Given the description of an element on the screen output the (x, y) to click on. 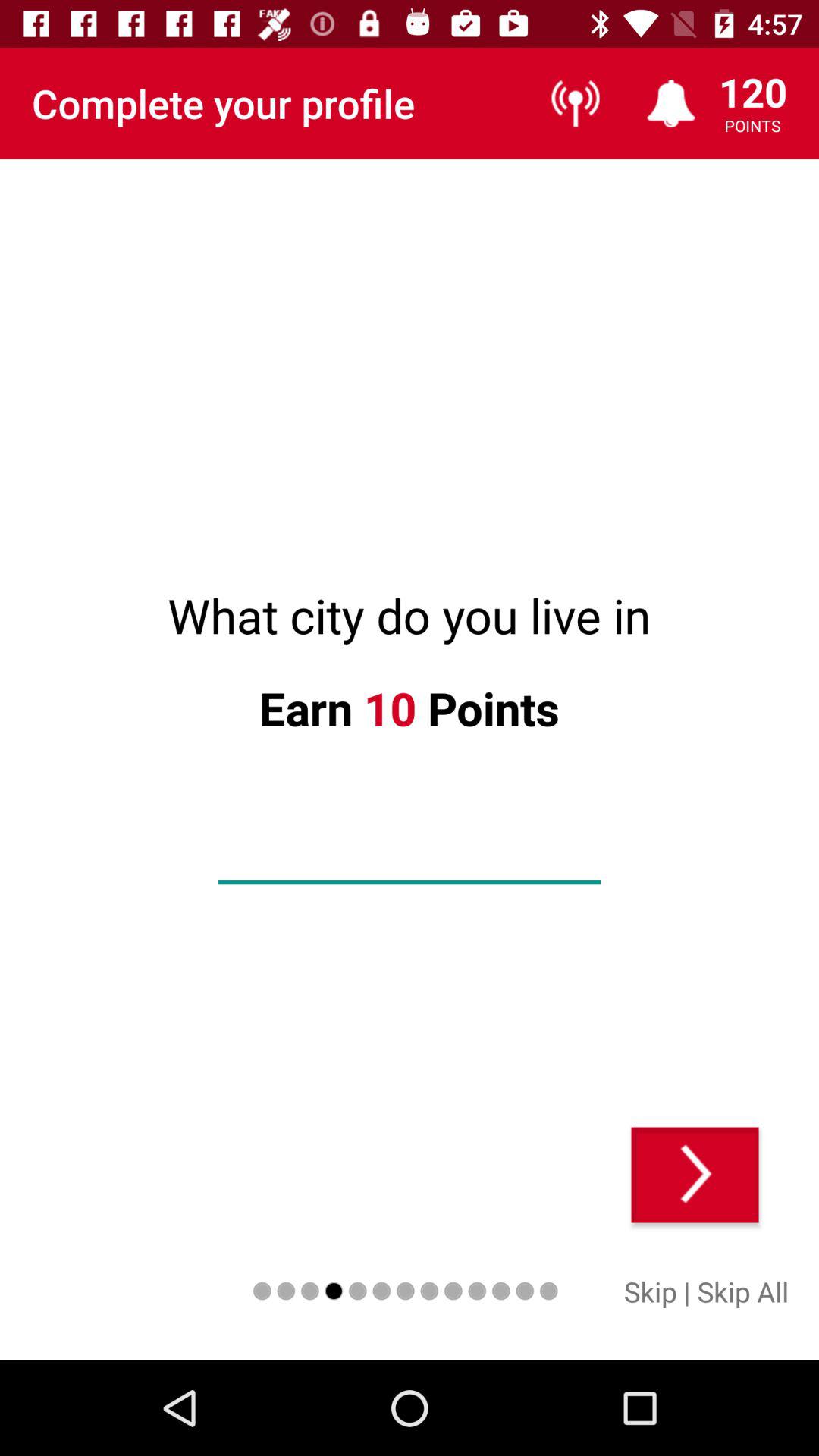
shows empty dash (409, 858)
